Given the description of an element on the screen output the (x, y) to click on. 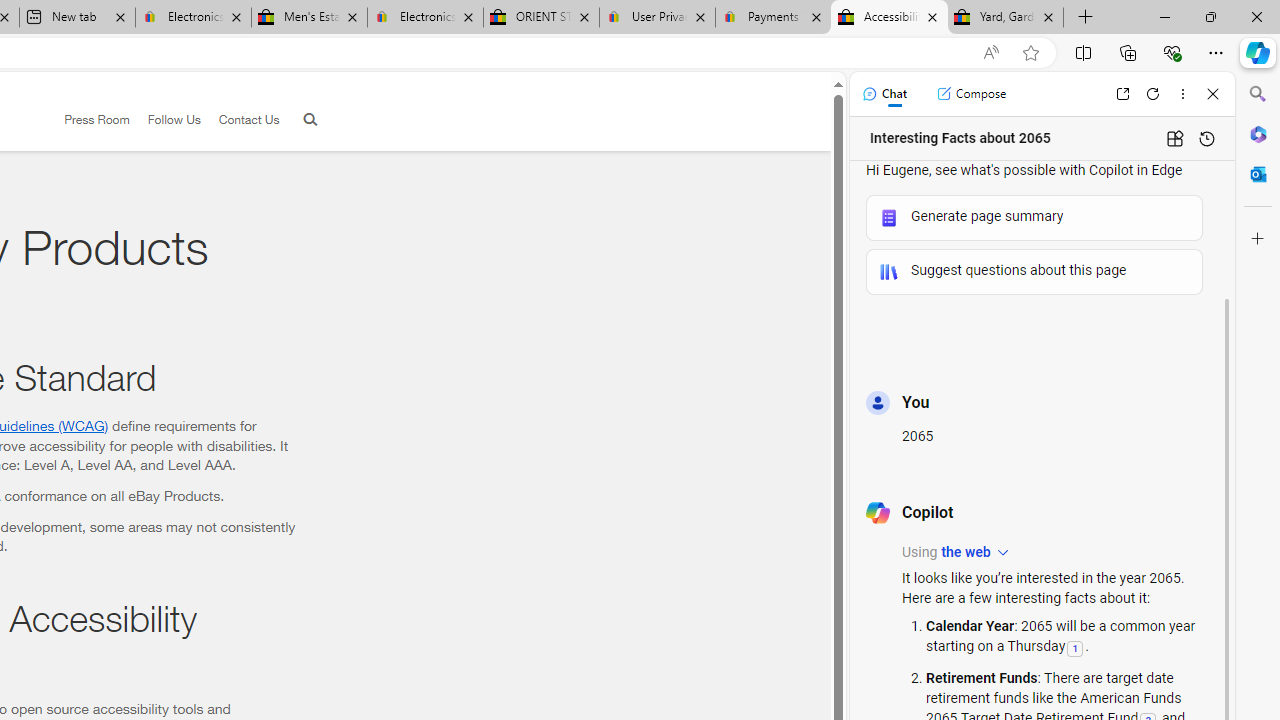
Press Room (97, 119)
Compose (971, 93)
Contact Us (239, 120)
